Given the description of an element on the screen output the (x, y) to click on. 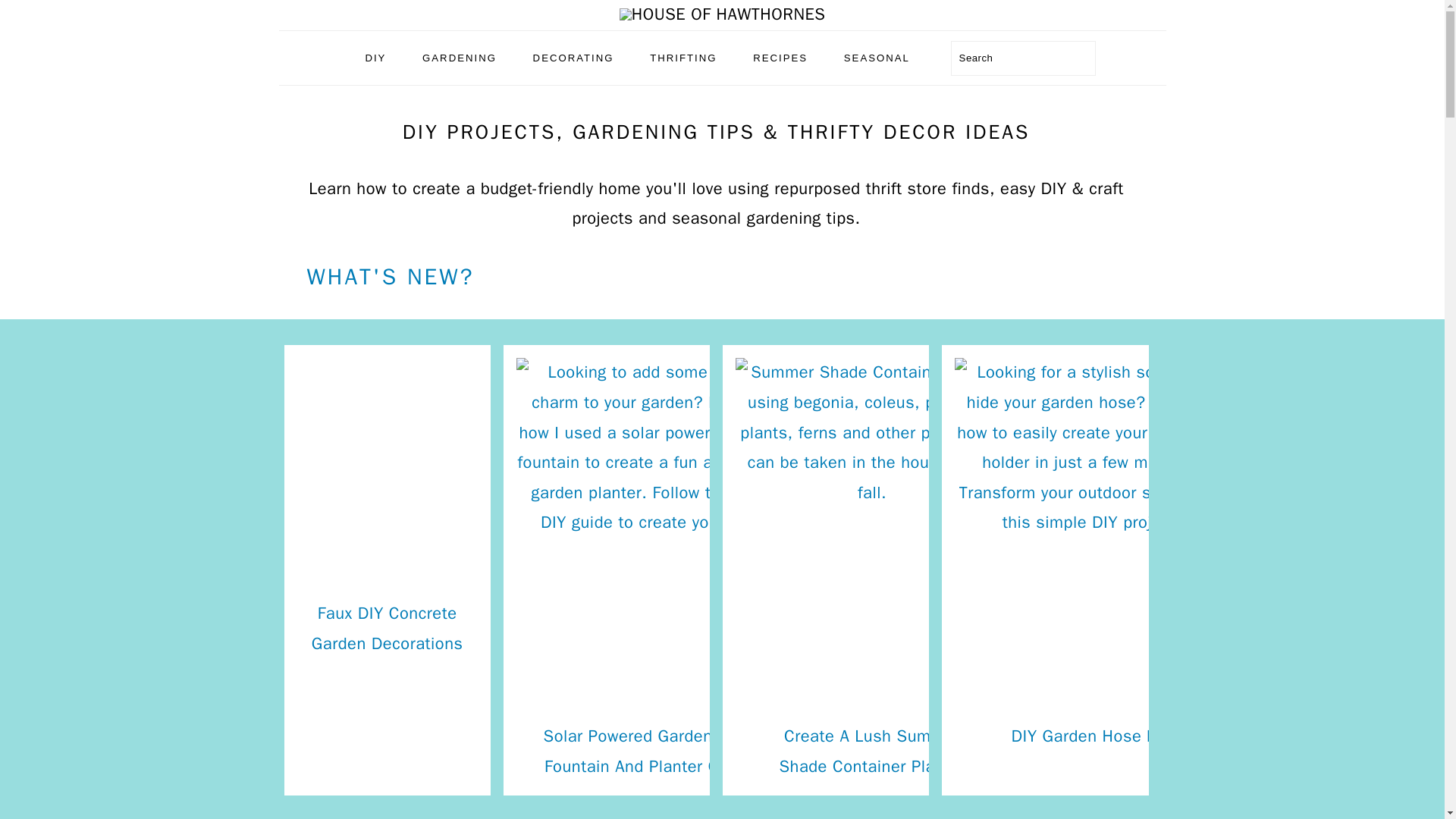
House of Hawthornes (722, 14)
GARDENING (459, 58)
DIY (375, 58)
THRIFTING (682, 58)
SEASONAL (877, 58)
DECORATING (573, 58)
House of Hawthornes (722, 15)
RECIPES (780, 58)
